Given the description of an element on the screen output the (x, y) to click on. 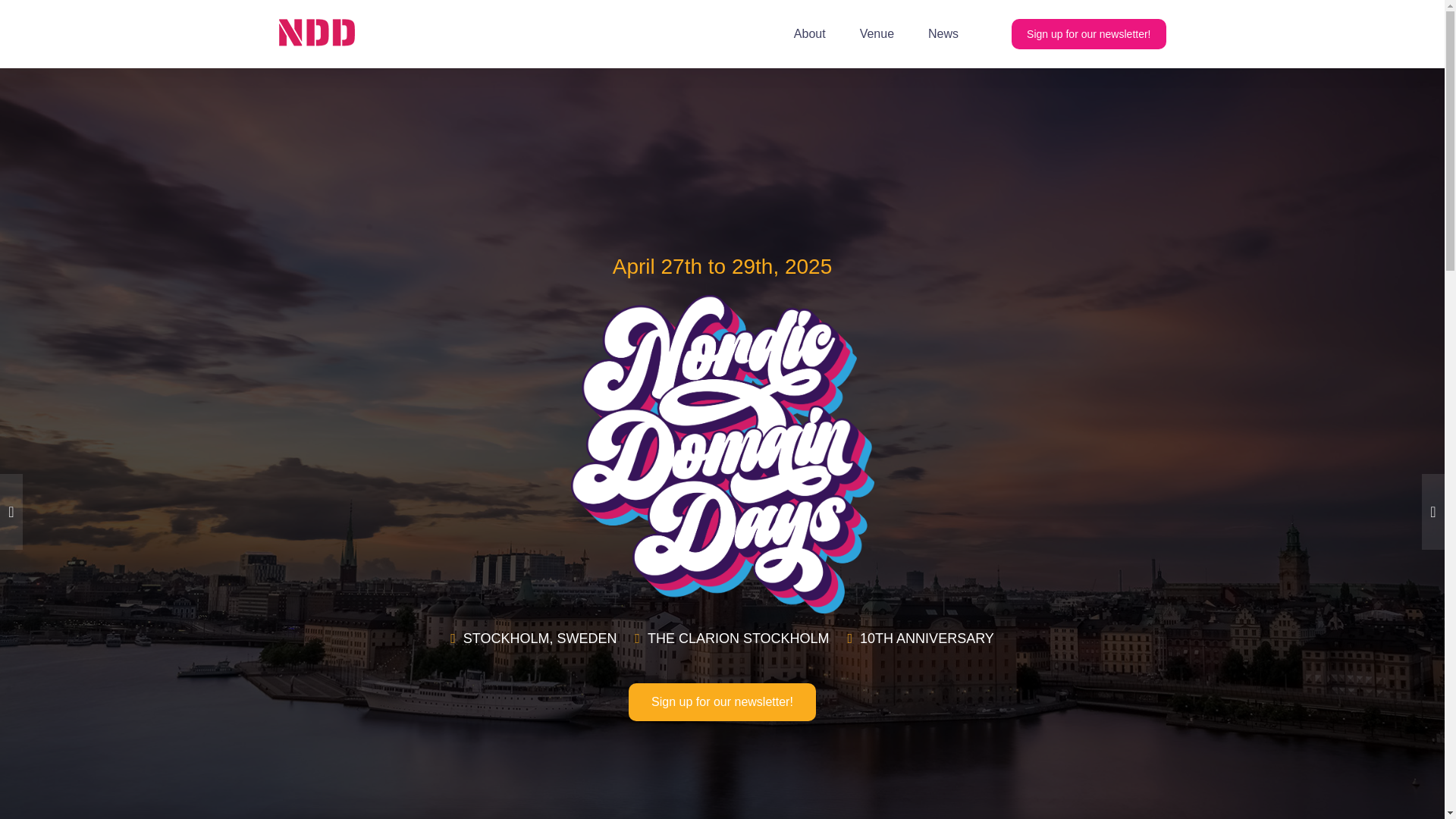
News (943, 34)
Sign up for our newsletter! (1088, 33)
Sign up for our newsletter! (721, 702)
About (809, 34)
Venue (876, 34)
